Given the description of an element on the screen output the (x, y) to click on. 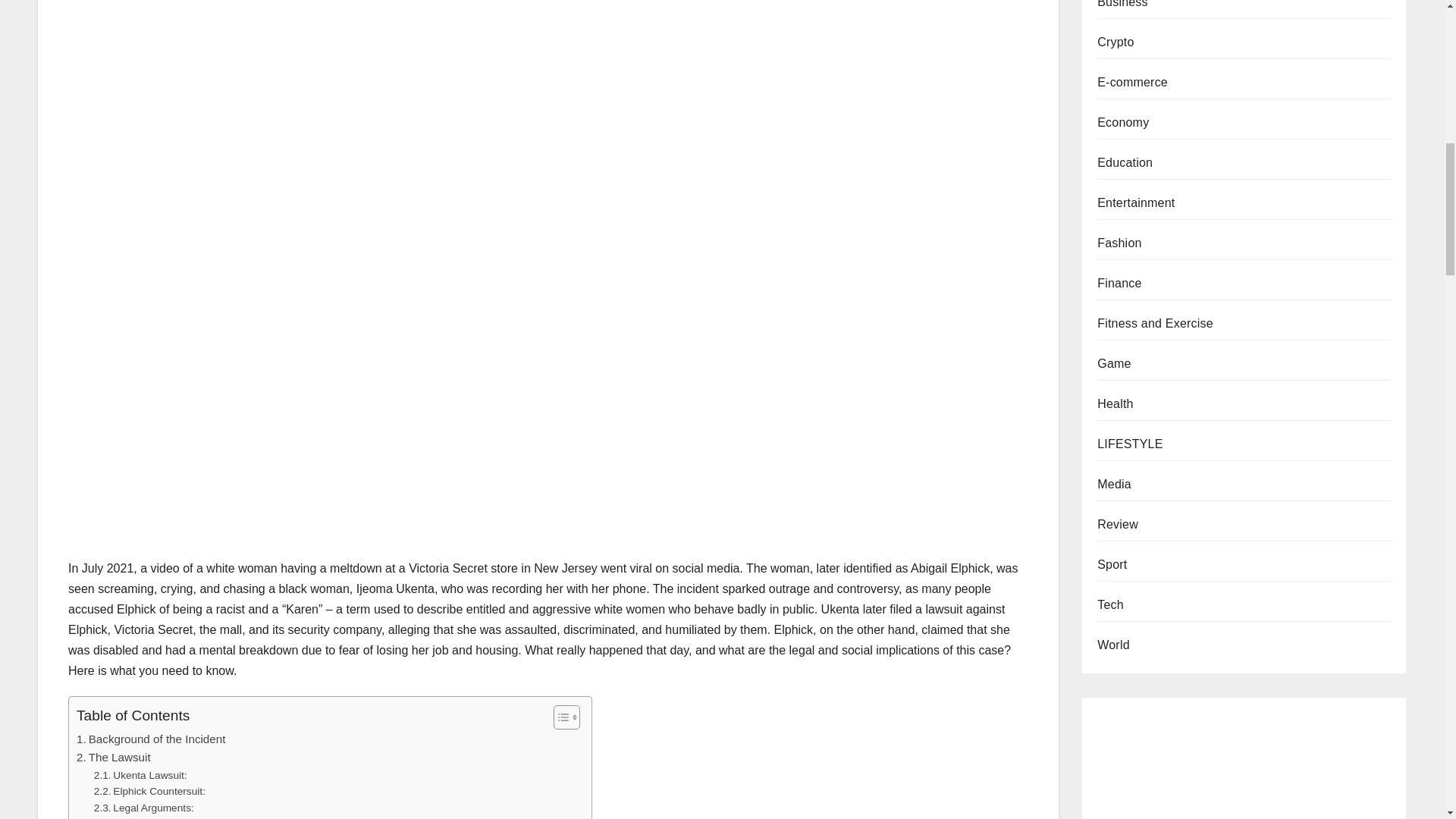
Broader Implications (135, 817)
Legal Arguments: (143, 808)
The Lawsuit (114, 757)
Background of the Incident (151, 739)
Legal Arguments: (143, 808)
Ukenta Lawsuit: (140, 775)
Elphick Countersuit: (149, 791)
Broader Implications (135, 817)
Elphick Countersuit: (149, 791)
Ukenta Lawsuit: (140, 775)
The Lawsuit (114, 757)
Background of the Incident (151, 739)
